Given the description of an element on the screen output the (x, y) to click on. 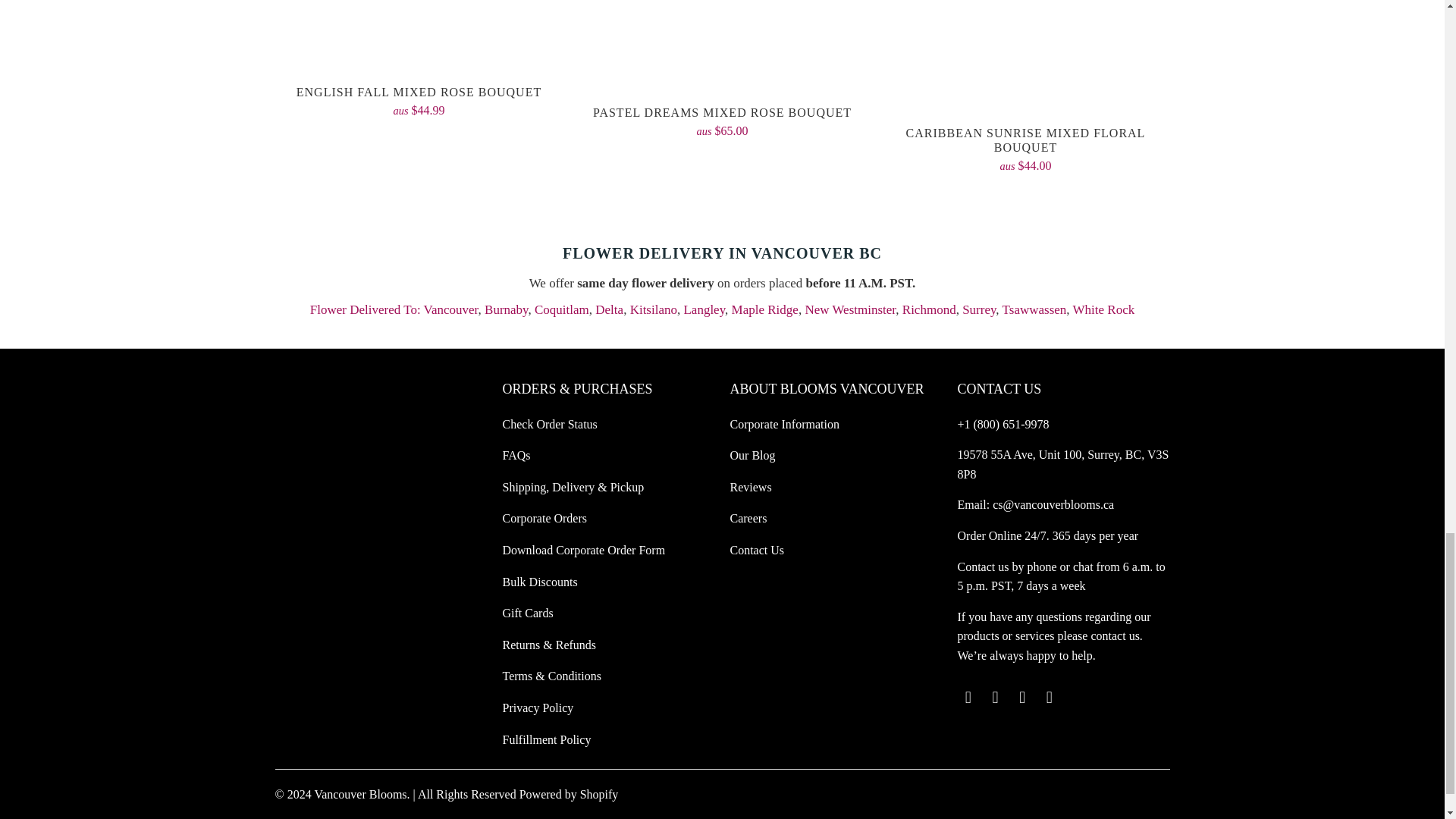
Flower Delivered To: Vancouver (394, 309)
Vancouver Blooms on Pinterest (1022, 697)
Contact Us (982, 566)
Vancouver Blooms on Twitter (967, 697)
Vancouver Blooms on Instagram (1050, 697)
Vancouver Blooms on Facebook (995, 697)
